Given the description of an element on the screen output the (x, y) to click on. 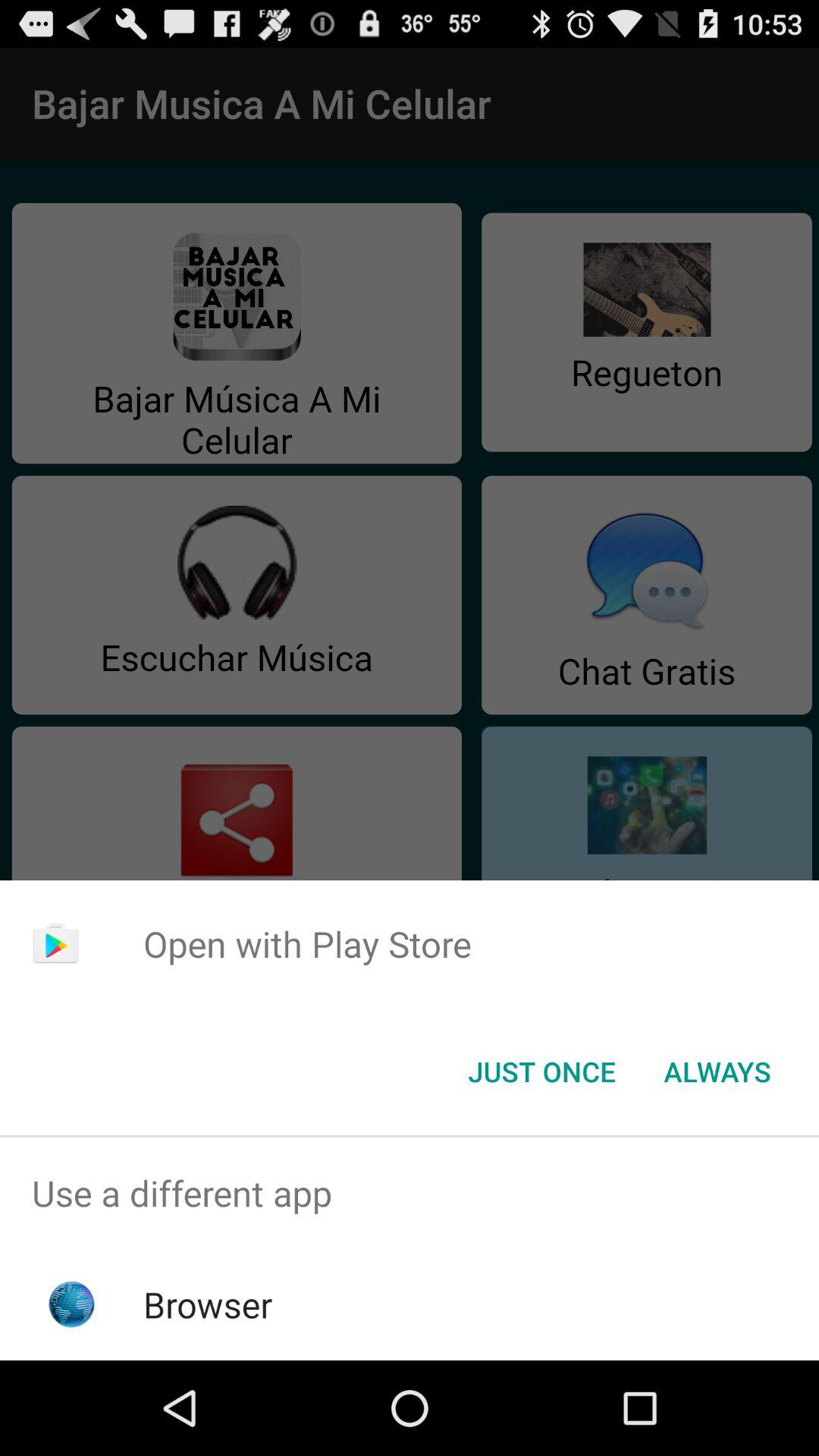
click the item at the bottom right corner (717, 1071)
